Given the description of an element on the screen output the (x, y) to click on. 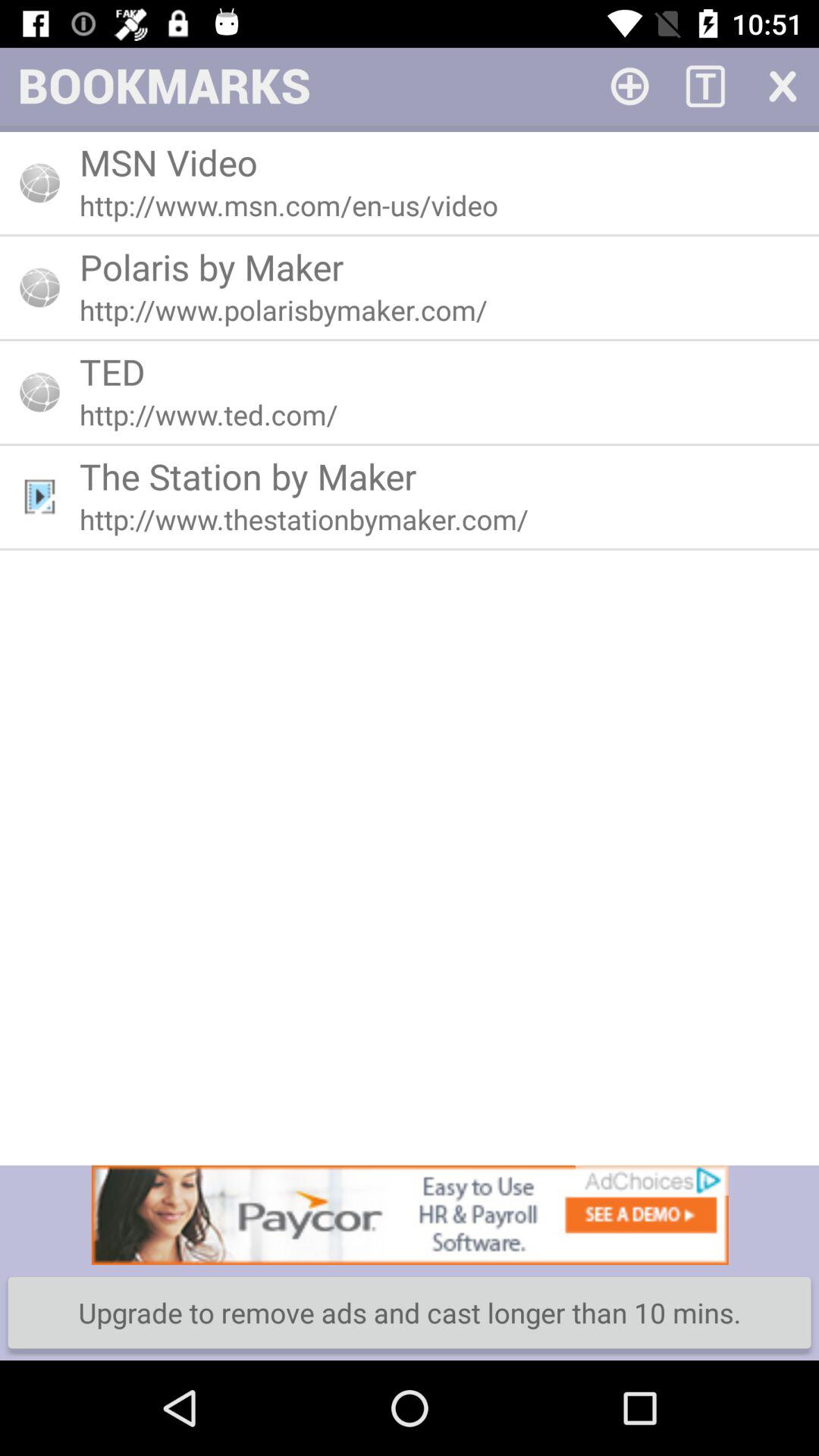
close switch (781, 85)
